Given the description of an element on the screen output the (x, y) to click on. 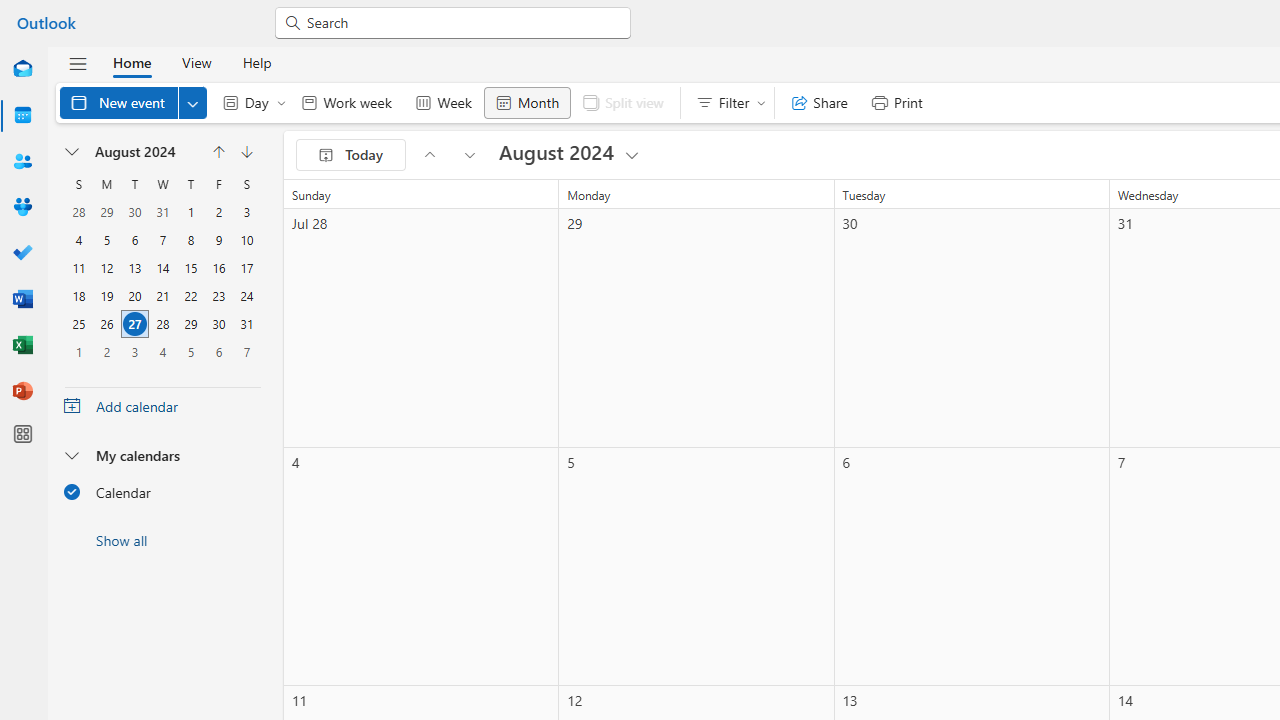
System (10, 11)
System (10, 11)
